Given the description of an element on the screen output the (x, y) to click on. 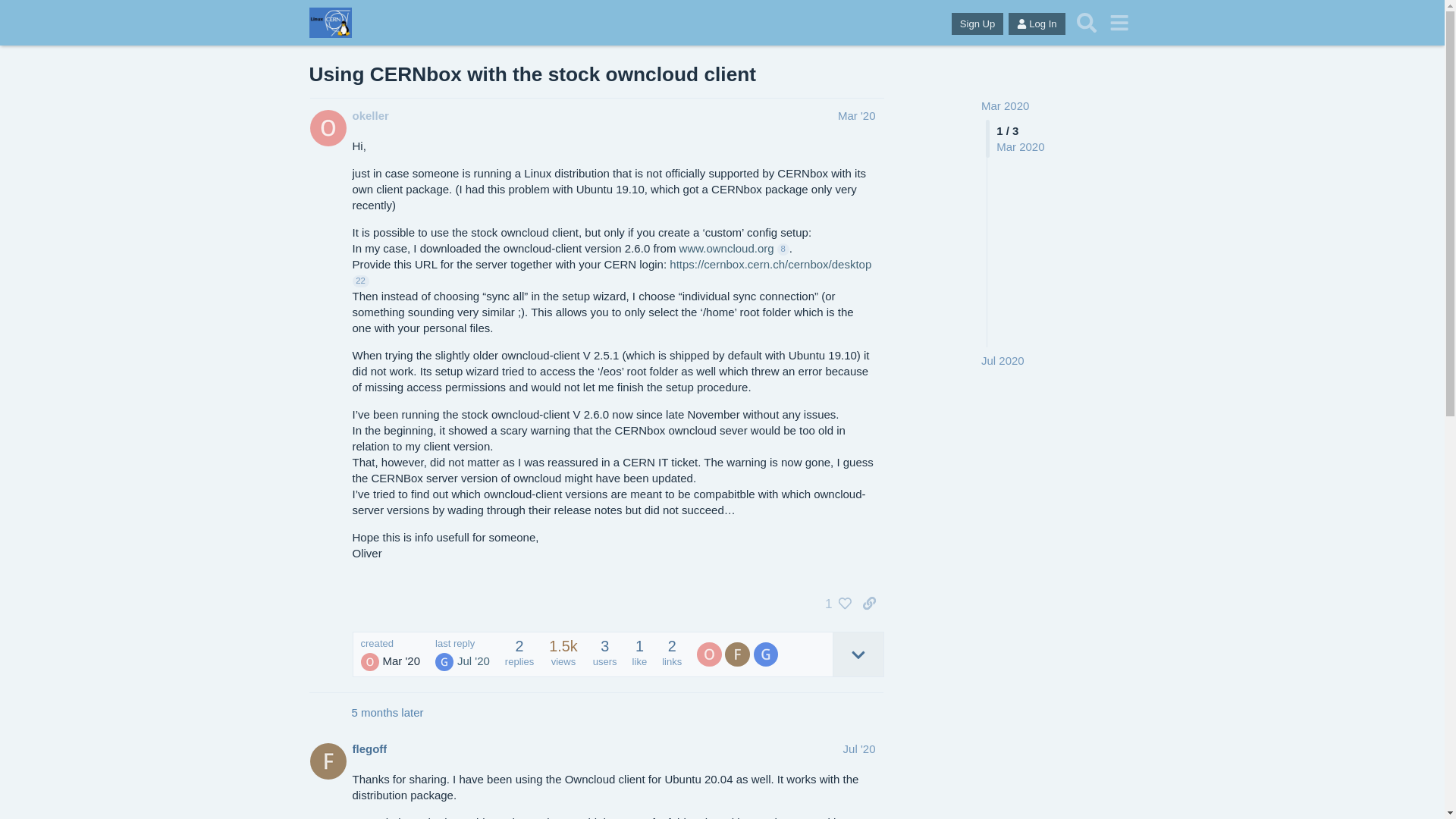
Oliver Keller Element type: hover (369, 661)
flegoff Element type: text (368, 748)
Search Element type: hover (1086, 22)
Log In Element type: text (1036, 23)
Sign Up Element type: text (977, 23)
Hugo Gonzalez Labrador Element type: hover (444, 661)
Mar 2020 Element type: text (1005, 105)
menu Element type: hover (1119, 22)
https://cernbox.cern.ch/cernbox/desktop 22 Element type: text (611, 271)
Jul '20 Element type: text (859, 748)
flegoff Element type: hover (738, 654)
gonzalhu Element type: hover (767, 654)
Fabrice Le Goff Element type: hover (736, 654)
Using CERNbox with the stock owncloud client Element type: text (532, 73)
1 Element type: text (834, 603)
okeller Element type: text (369, 115)
Hugo Gonzalez Labrador Element type: hover (765, 654)
okeller Element type: hover (710, 654)
last reply
Jul '20 Element type: text (462, 654)
Oliver Keller Element type: hover (708, 654)
Jul 2020 Element type: text (1002, 360)
expand topic details Element type: hover (857, 654)
Mar '20 Element type: text (856, 115)
share a link to this post Element type: hover (869, 603)
www.owncloud.org 8 Element type: text (734, 247)
